Given the description of an element on the screen output the (x, y) to click on. 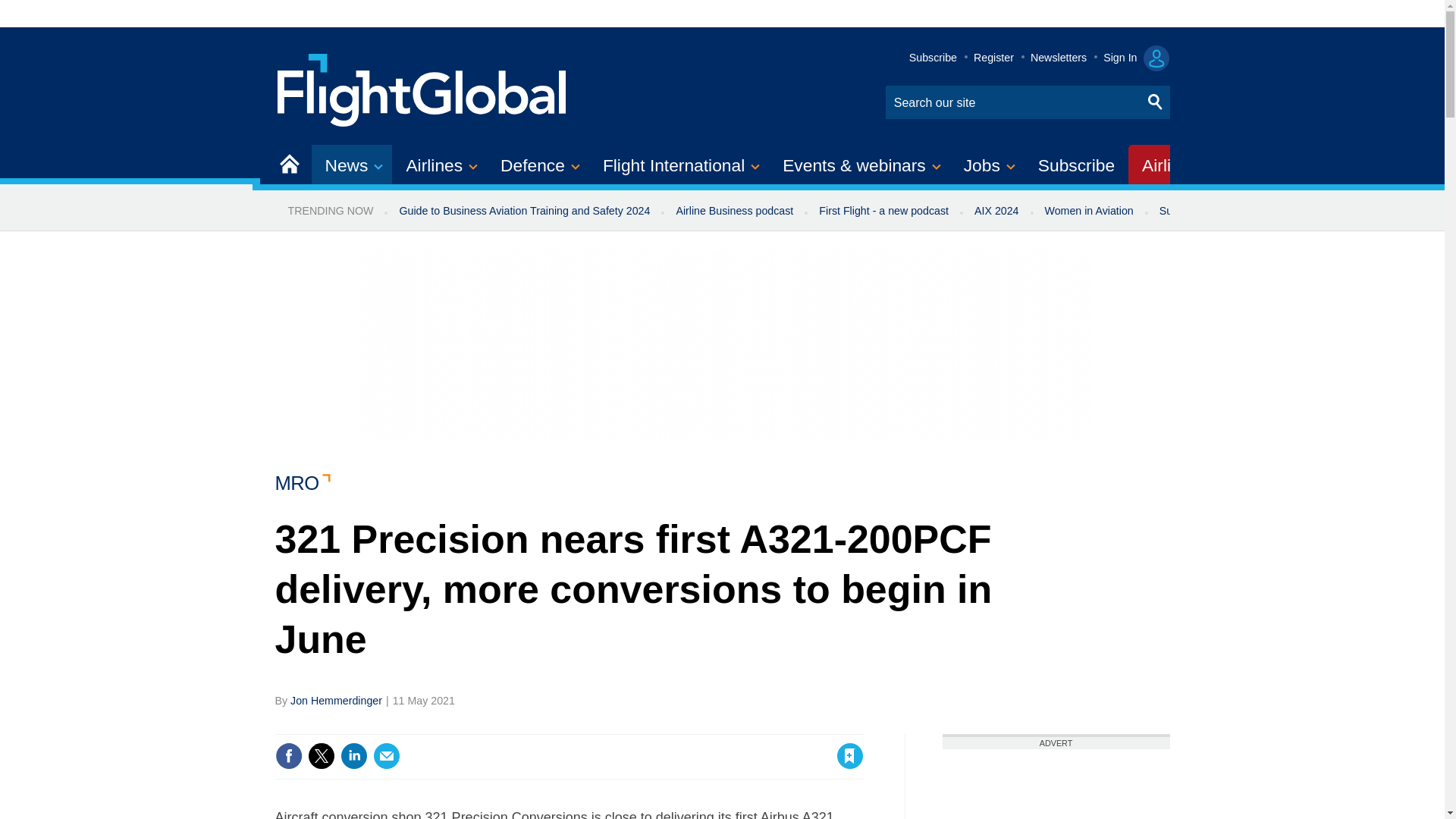
Guide to Business Aviation Training and Safety 2024 (523, 210)
Share this on Facebook (288, 755)
3rd party ad content (1055, 784)
Airline Business podcast (734, 210)
AIX 2024 (996, 210)
Email this article (386, 755)
Women in Aviation (1089, 210)
